Given the description of an element on the screen output the (x, y) to click on. 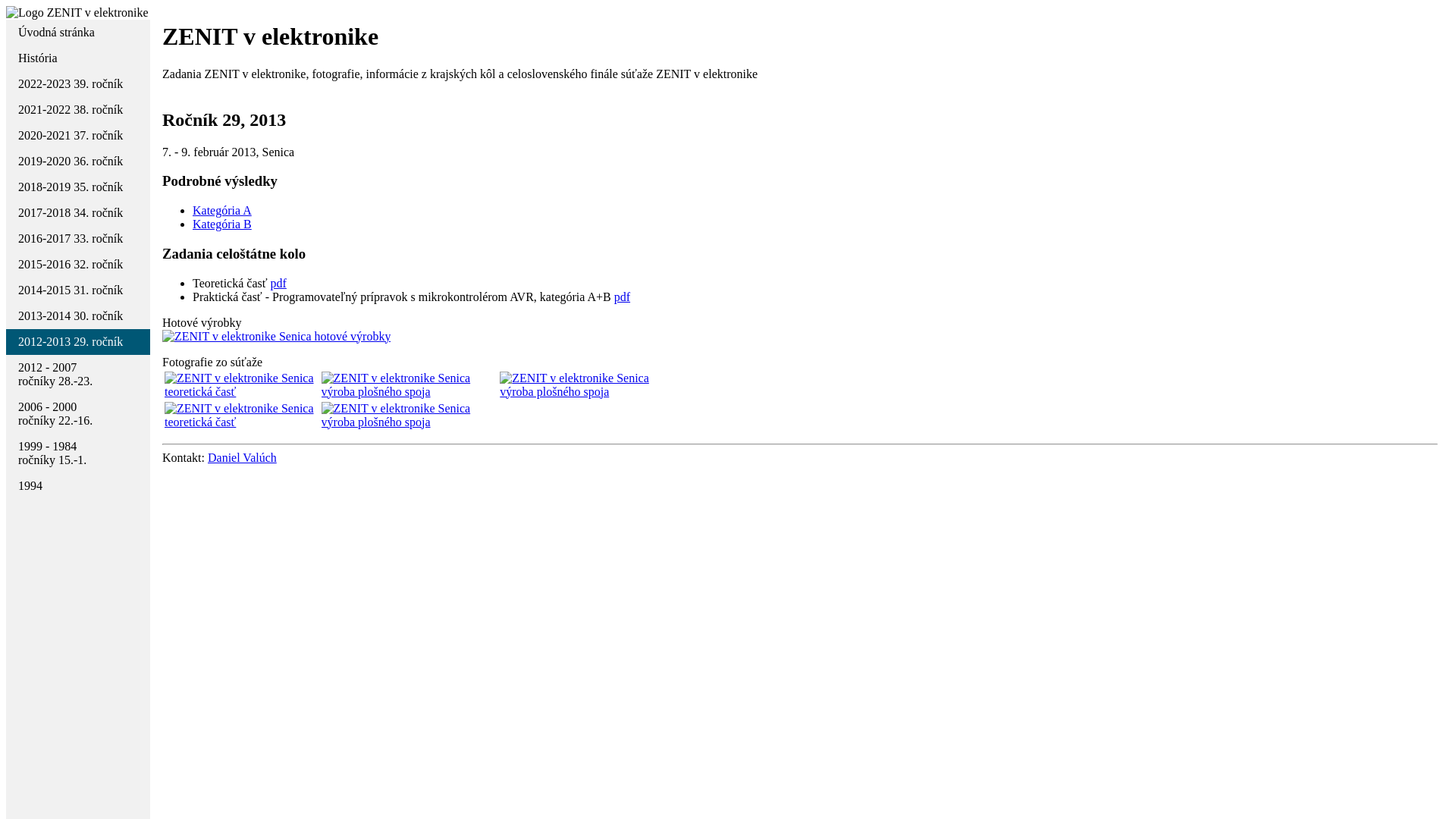
pdf Element type: text (278, 282)
1994 Element type: text (78, 485)
pdf Element type: text (622, 296)
